Given the description of an element on the screen output the (x, y) to click on. 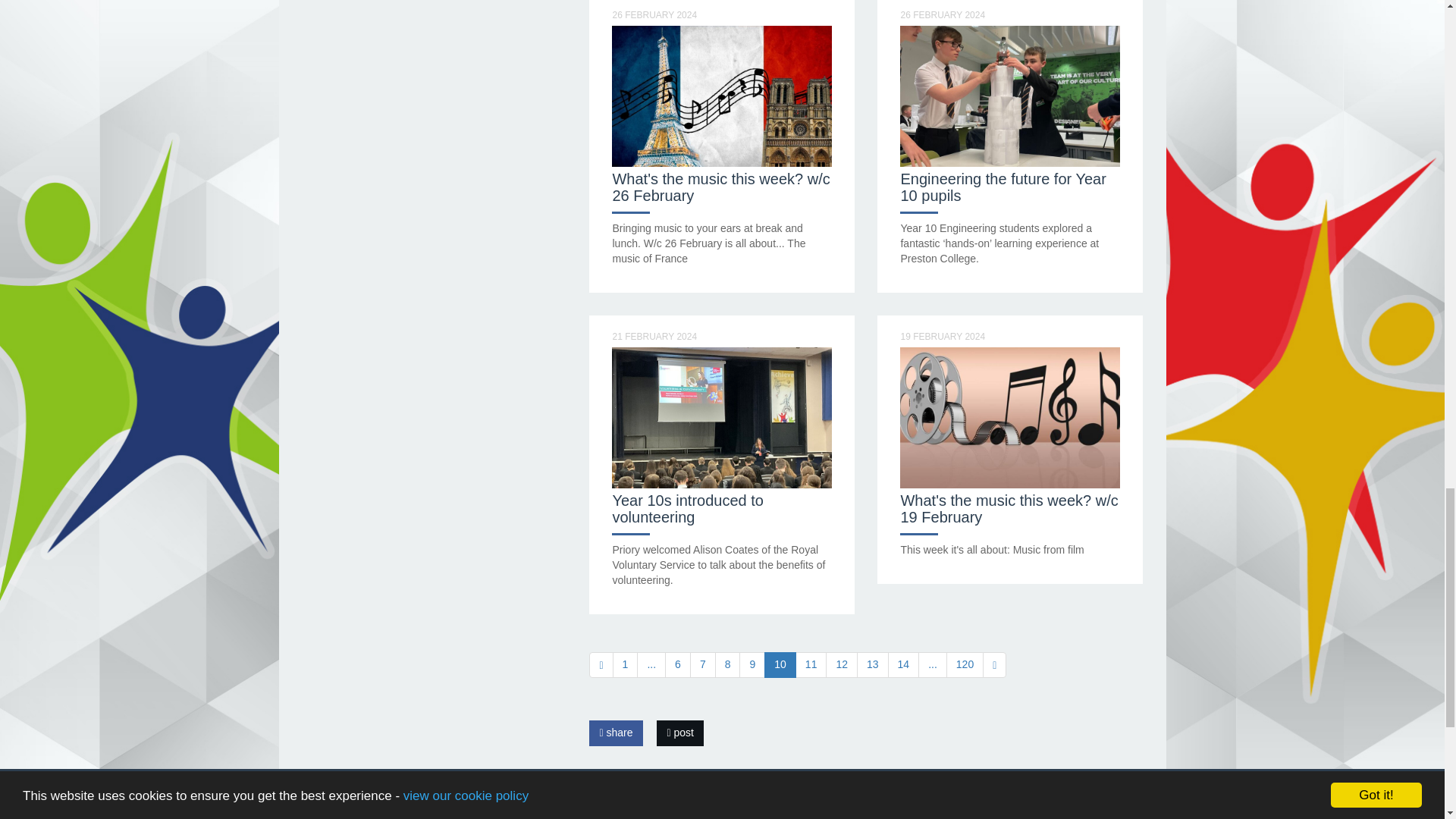
Share on Facebook (615, 733)
Post on X (679, 733)
